Given the description of an element on the screen output the (x, y) to click on. 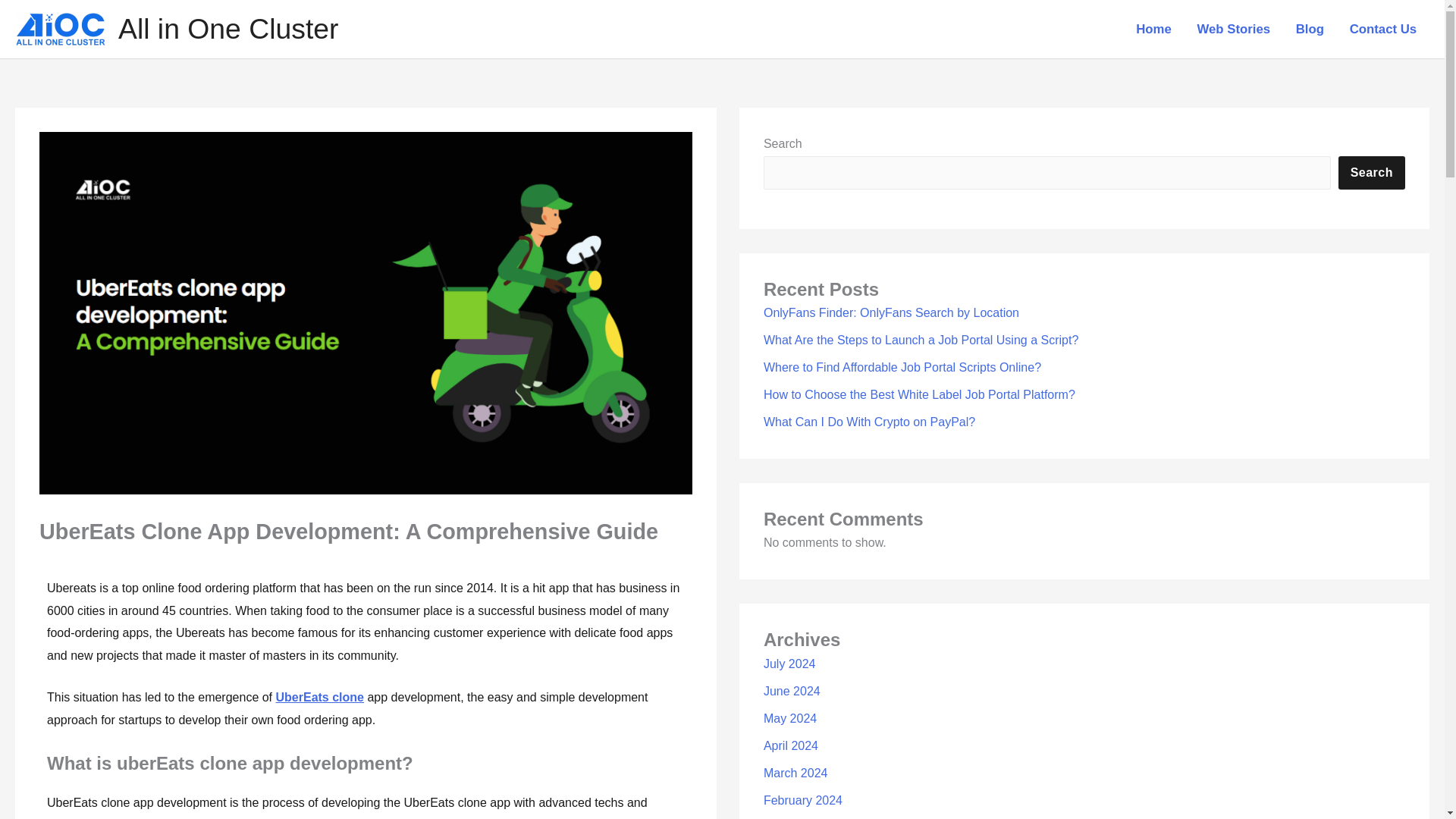
Search (1371, 172)
Contact Us (1382, 29)
February 2024 (802, 799)
March 2024 (795, 772)
May 2024 (789, 717)
Web Stories (1233, 29)
June 2024 (791, 690)
July 2024 (788, 663)
Home (1152, 29)
UberEats clone (320, 697)
